Given the description of an element on the screen output the (x, y) to click on. 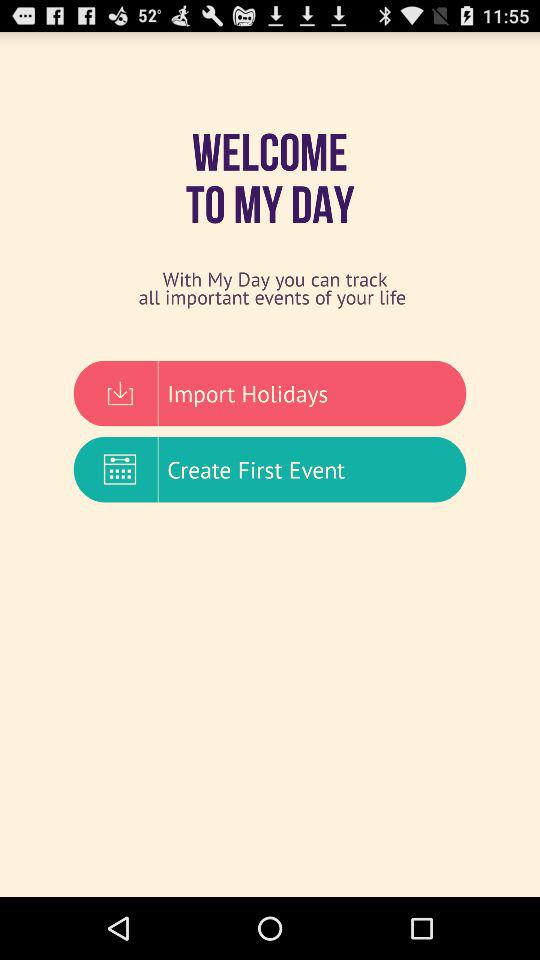
select the import holidays item (269, 393)
